Given the description of an element on the screen output the (x, y) to click on. 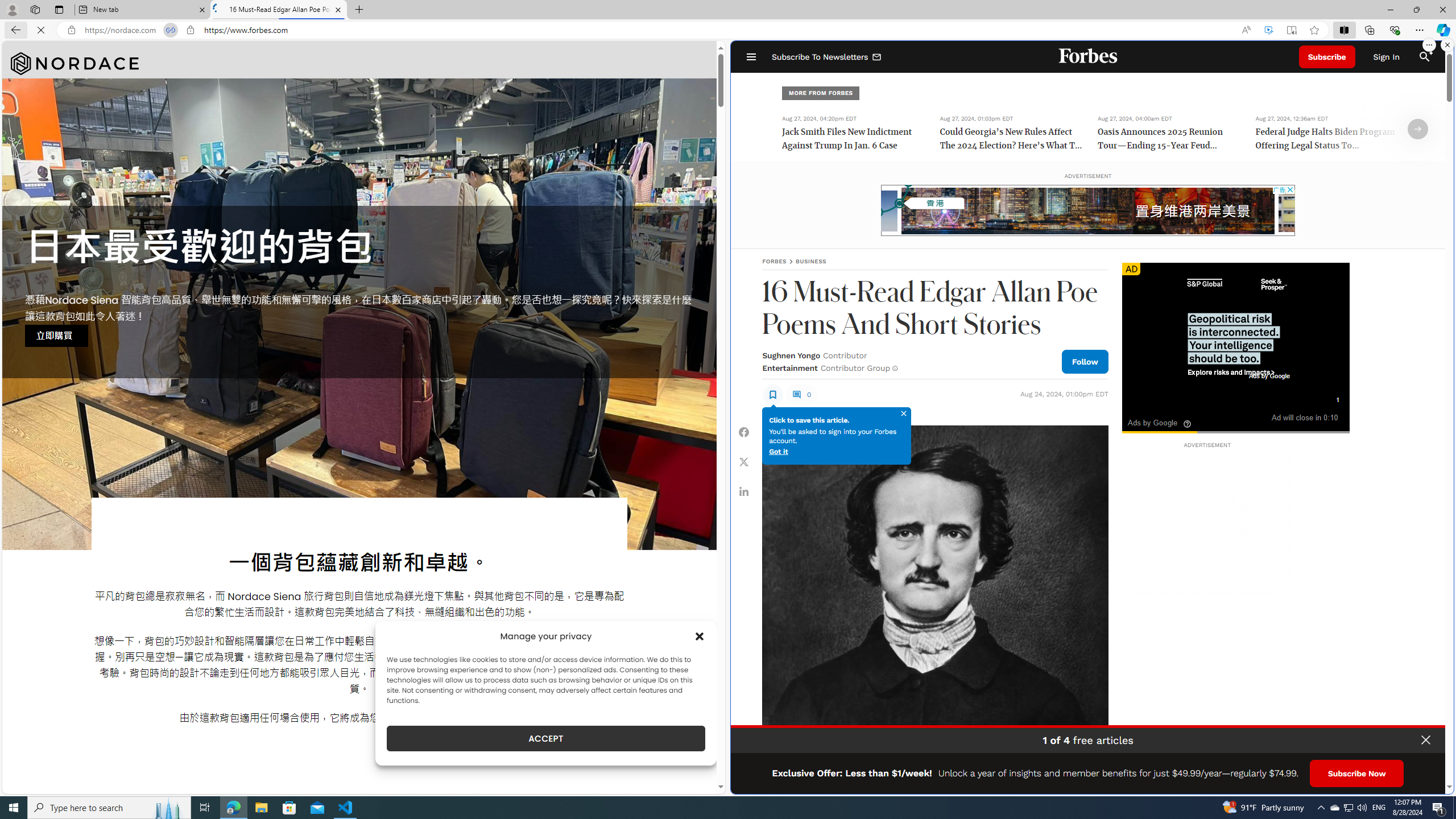
Class: search_svg__fs-icon search_svg__fs-icon--search (1424, 56)
Skip Ad (1319, 397)
Unmute (m) (1159, 416)
Entertainment (789, 367)
Open Navigation Menu (750, 56)
Class: sparkles_svg__fs-icon sparkles_svg__fs-icon--sparkles (1430, 51)
